Given the description of an element on the screen output the (x, y) to click on. 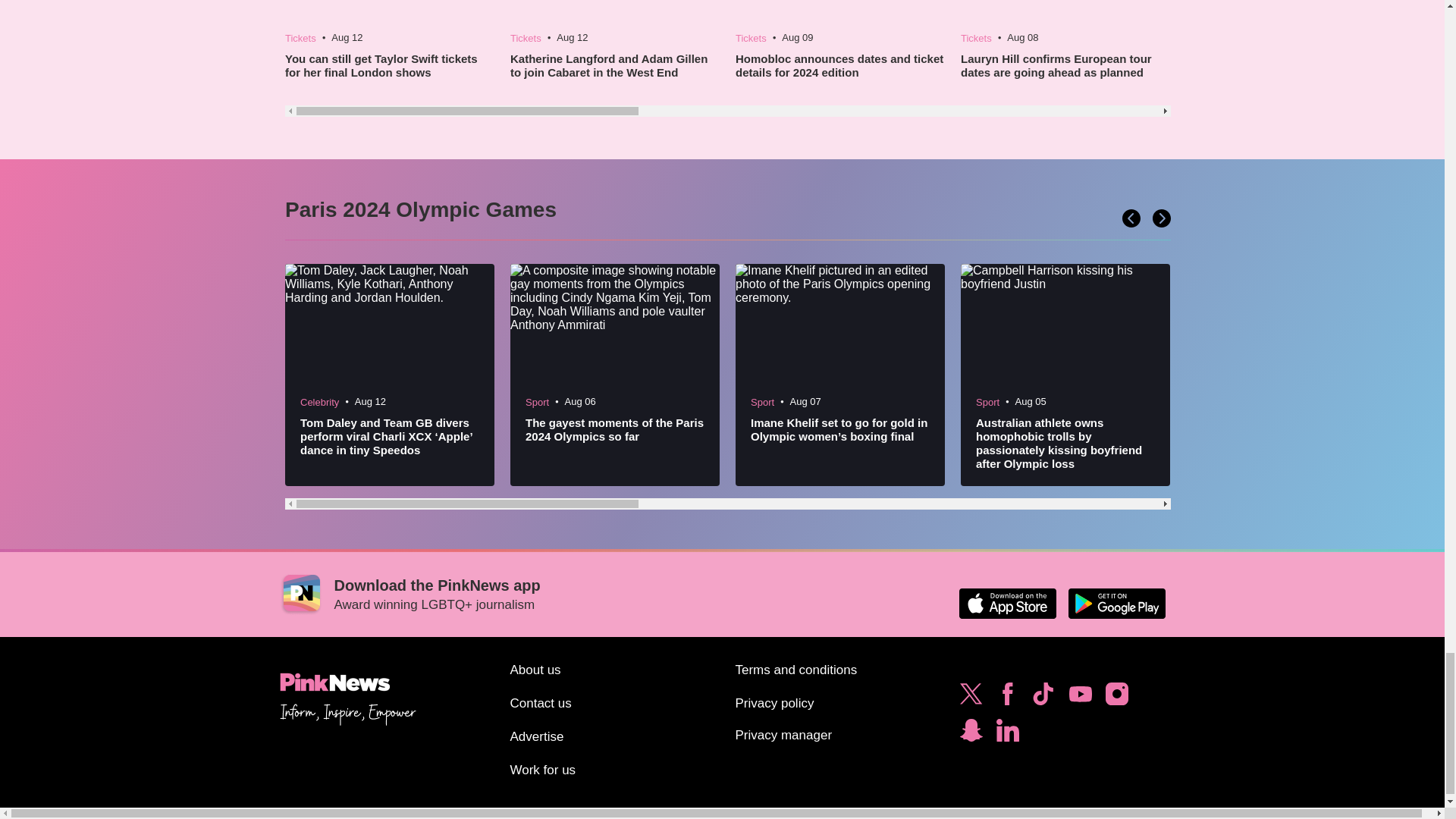
Follow PinkNews on LinkedIn (1007, 733)
Follow PinkNews on TikTok (1042, 697)
Subscribe to PinkNews on Snapchat (970, 733)
Download the PinkNews app on Google Play (1115, 603)
Download the PinkNews app on the Apple App Store (1006, 603)
Subscribe to PinkNews on YouTube (1079, 697)
Follow PinkNews on Twitter (970, 697)
Follow PinkNews on Instagram (1116, 697)
